Given the description of an element on the screen output the (x, y) to click on. 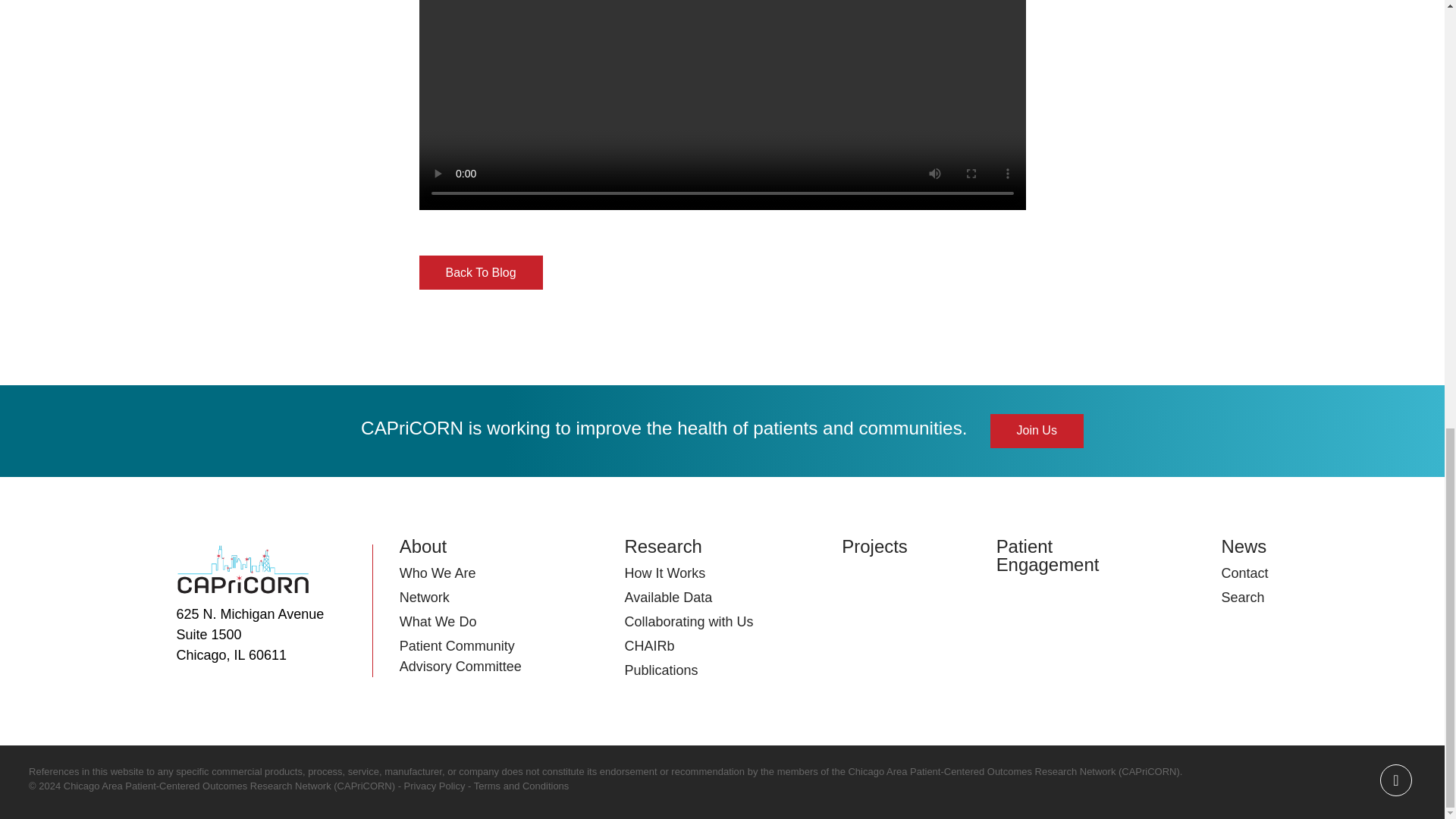
Twitter (1396, 780)
CHAIRb (649, 645)
Join Us (1036, 430)
Patient Community Advisory Committee (459, 656)
CAPriCORN (242, 570)
News (1243, 546)
How It Works (664, 572)
Collaborating with Us (688, 621)
Research (662, 546)
Publications (660, 670)
